Given the description of an element on the screen output the (x, y) to click on. 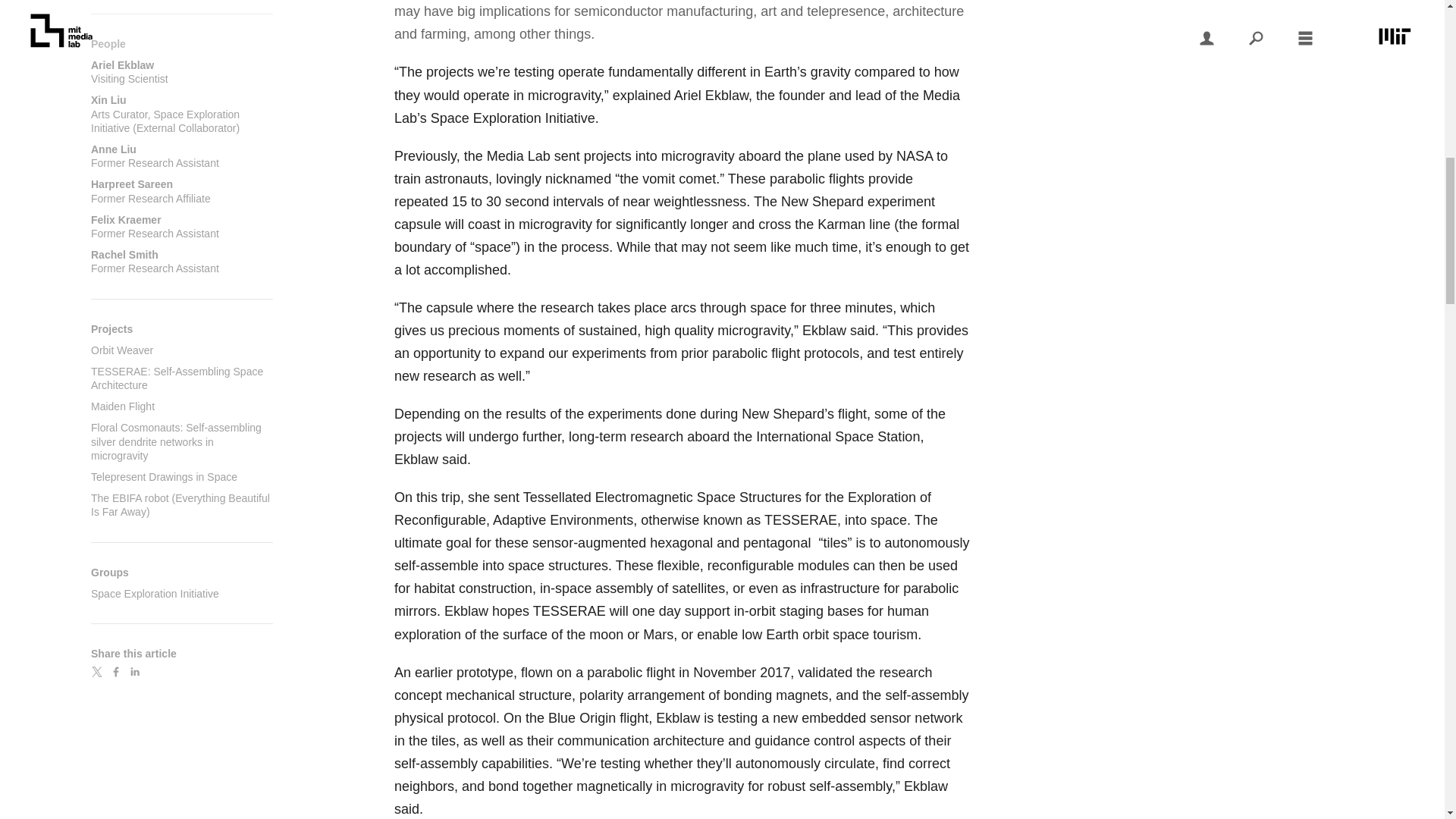
TESSERAE: Self-Assembling Space Architecture (181, 190)
Telepresent Drawings in Space (181, 155)
Orbit Weaver (176, 378)
Space Exploration Initiative (163, 476)
Maiden Flight (121, 349)
